Given the description of an element on the screen output the (x, y) to click on. 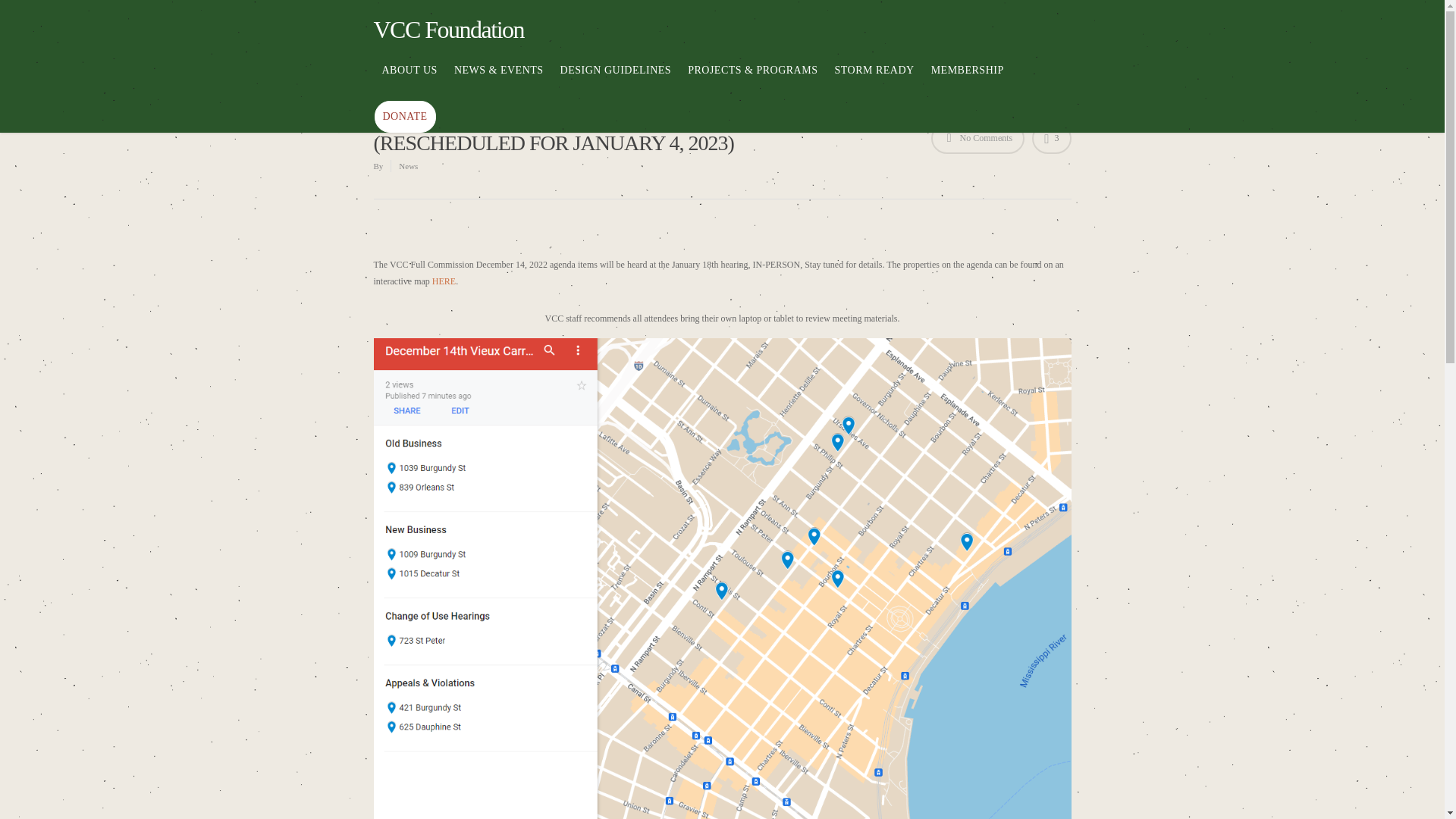
STORM READY (874, 81)
HERE (443, 281)
VCC Foundation (448, 29)
No Comments (978, 137)
DESIGN GUIDELINES (616, 81)
News (407, 165)
Love this (1051, 137)
DONATE (404, 116)
ABOUT US (409, 81)
3 (1051, 137)
MEMBERSHIP (967, 81)
